Given the description of an element on the screen output the (x, y) to click on. 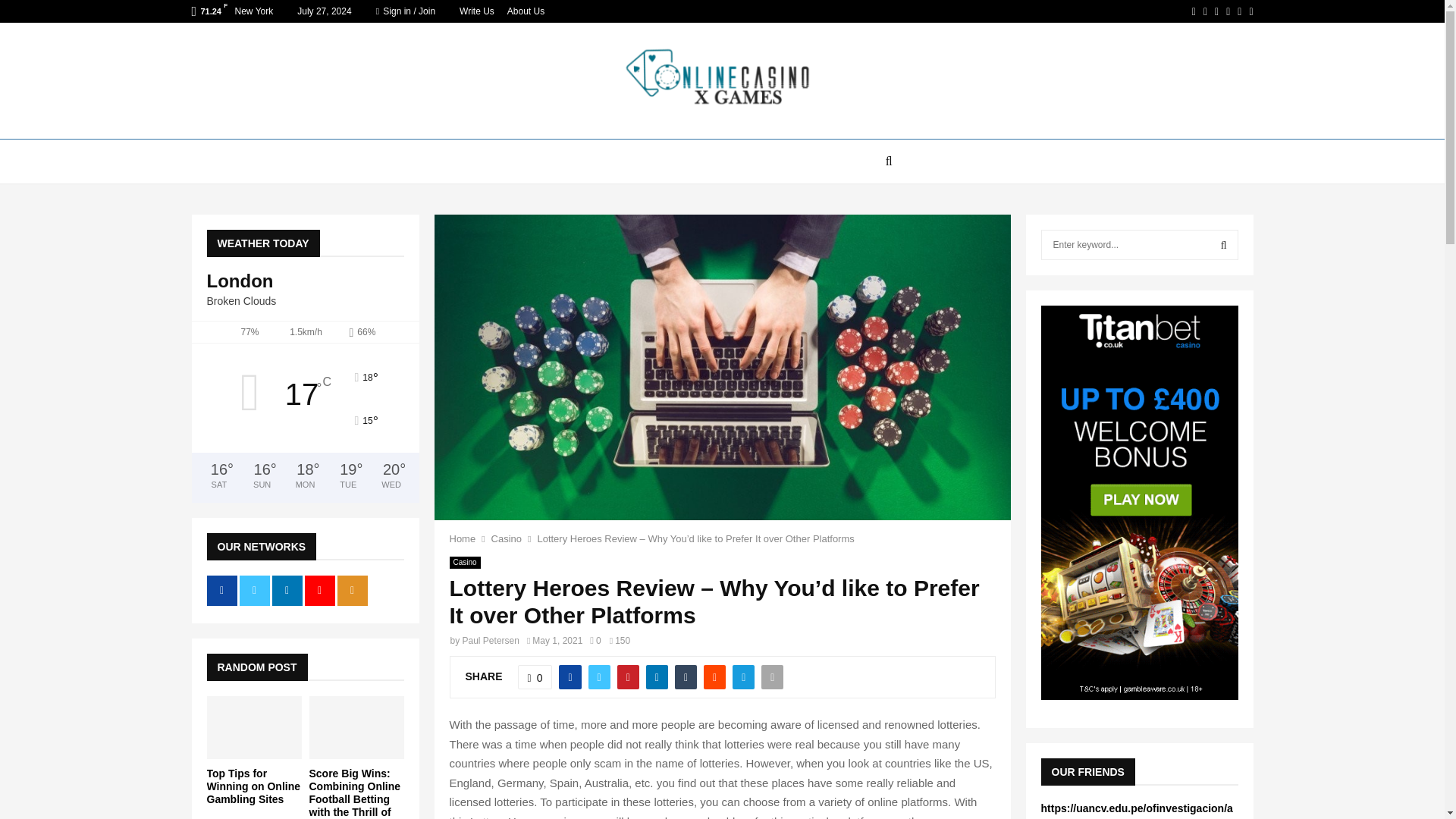
0 (594, 640)
Casino (506, 538)
Twitter (1205, 11)
Youtube (1227, 11)
Sign up new account (722, 527)
GAMES (849, 161)
Facebook (1193, 11)
ROULETTE (639, 161)
CASINO (571, 161)
Telegram (1250, 11)
BLACKJACK (719, 161)
Home (462, 538)
Linkedin (1216, 11)
Casino (464, 562)
Login to your account (722, 293)
